Given the description of an element on the screen output the (x, y) to click on. 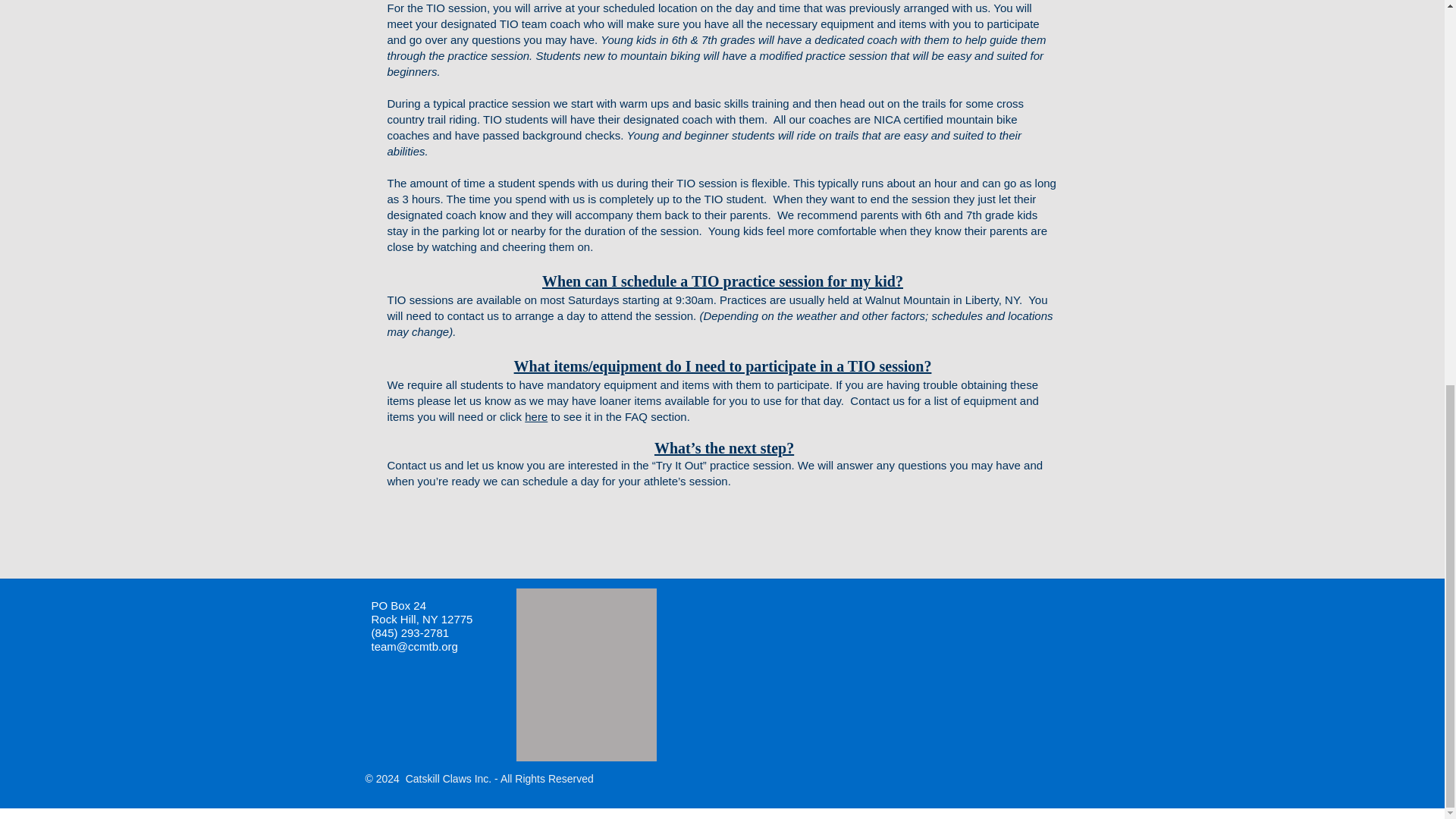
here (535, 416)
